Given the description of an element on the screen output the (x, y) to click on. 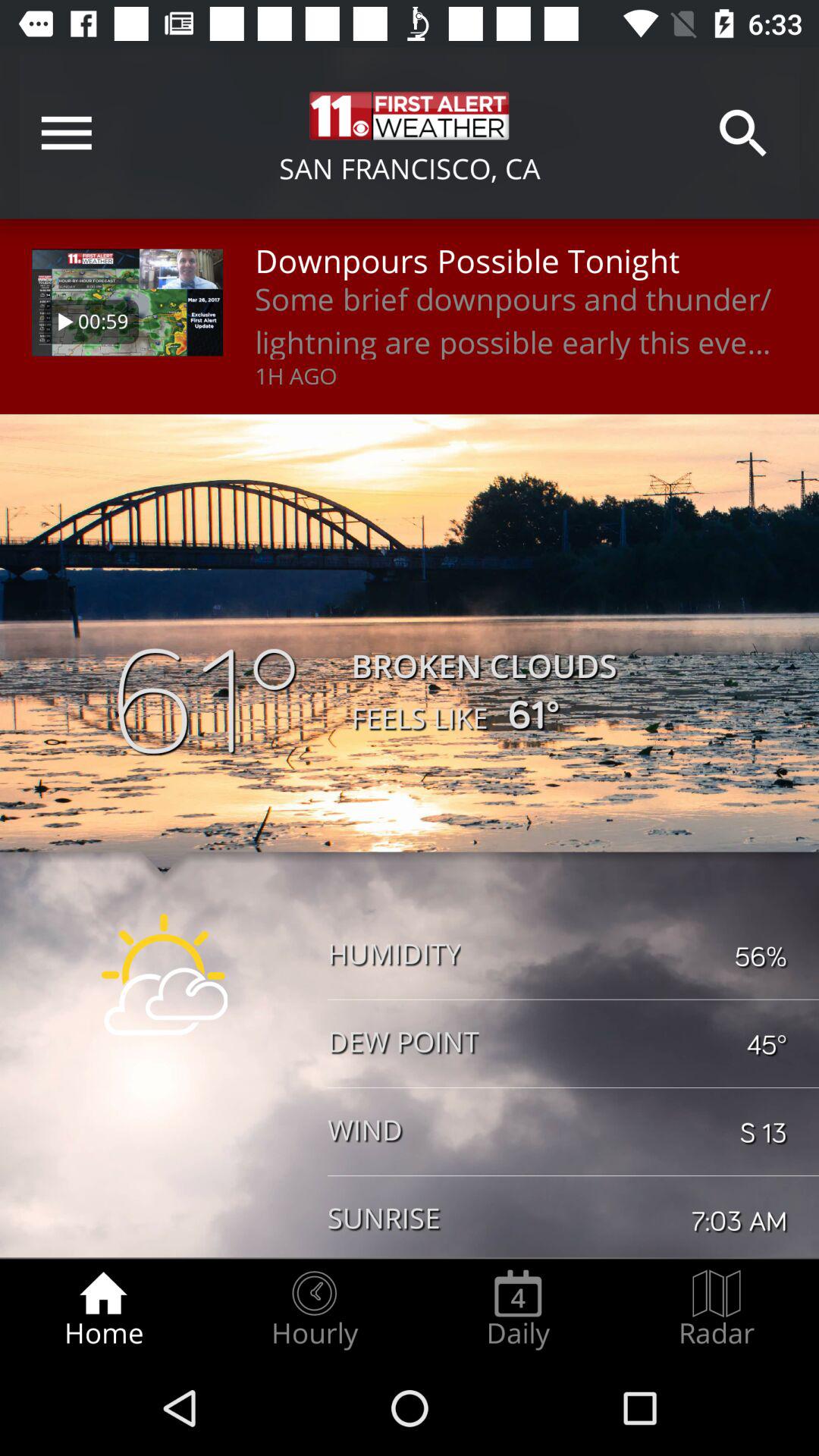
open the icon to the left of the hourly radio button (103, 1309)
